Given the description of an element on the screen output the (x, y) to click on. 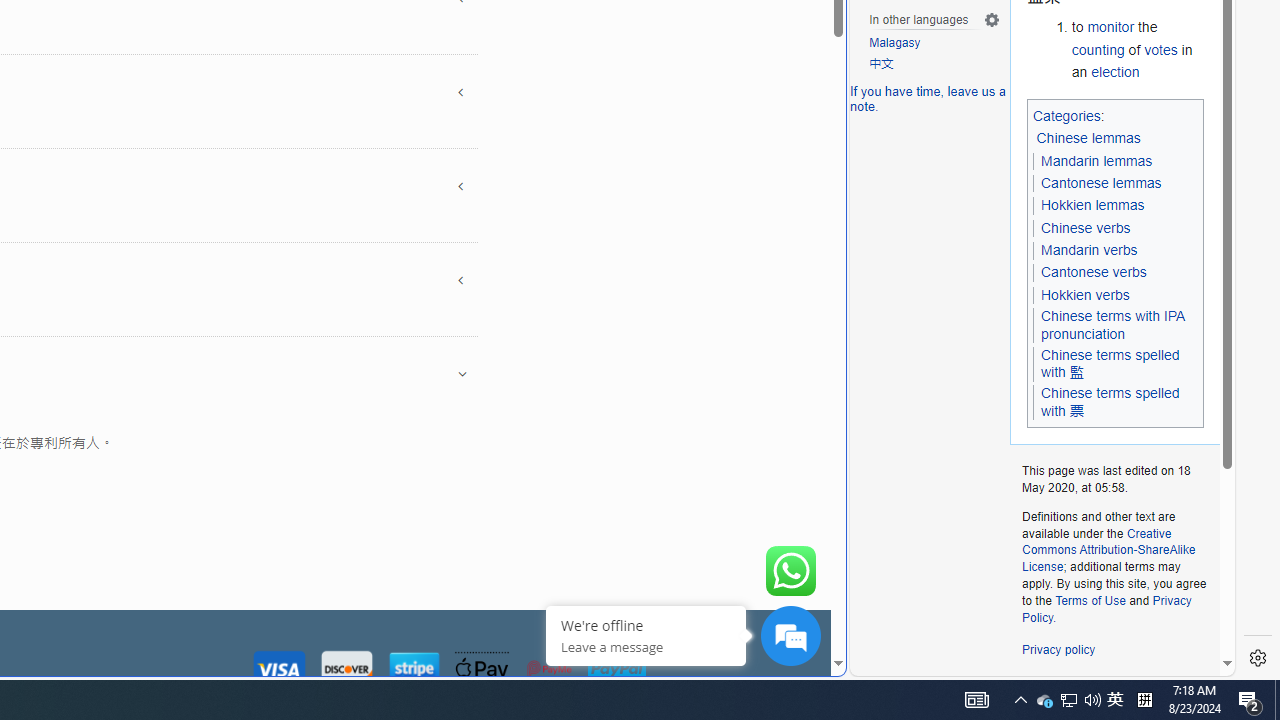
Creative Commons Attribution-ShareAlike License (1108, 550)
Malagasy (934, 43)
This page was last edited on 18 May 2020, at 05:58. (1114, 480)
Cantonese lemmas (1100, 183)
Terms of Use (1090, 600)
Chinese verbs (1085, 227)
Actions for this site (1129, 306)
If you have time, leave us a note. (927, 97)
Chinese terms with IPA pronunciation (1115, 326)
monitor (1110, 27)
